Given the description of an element on the screen output the (x, y) to click on. 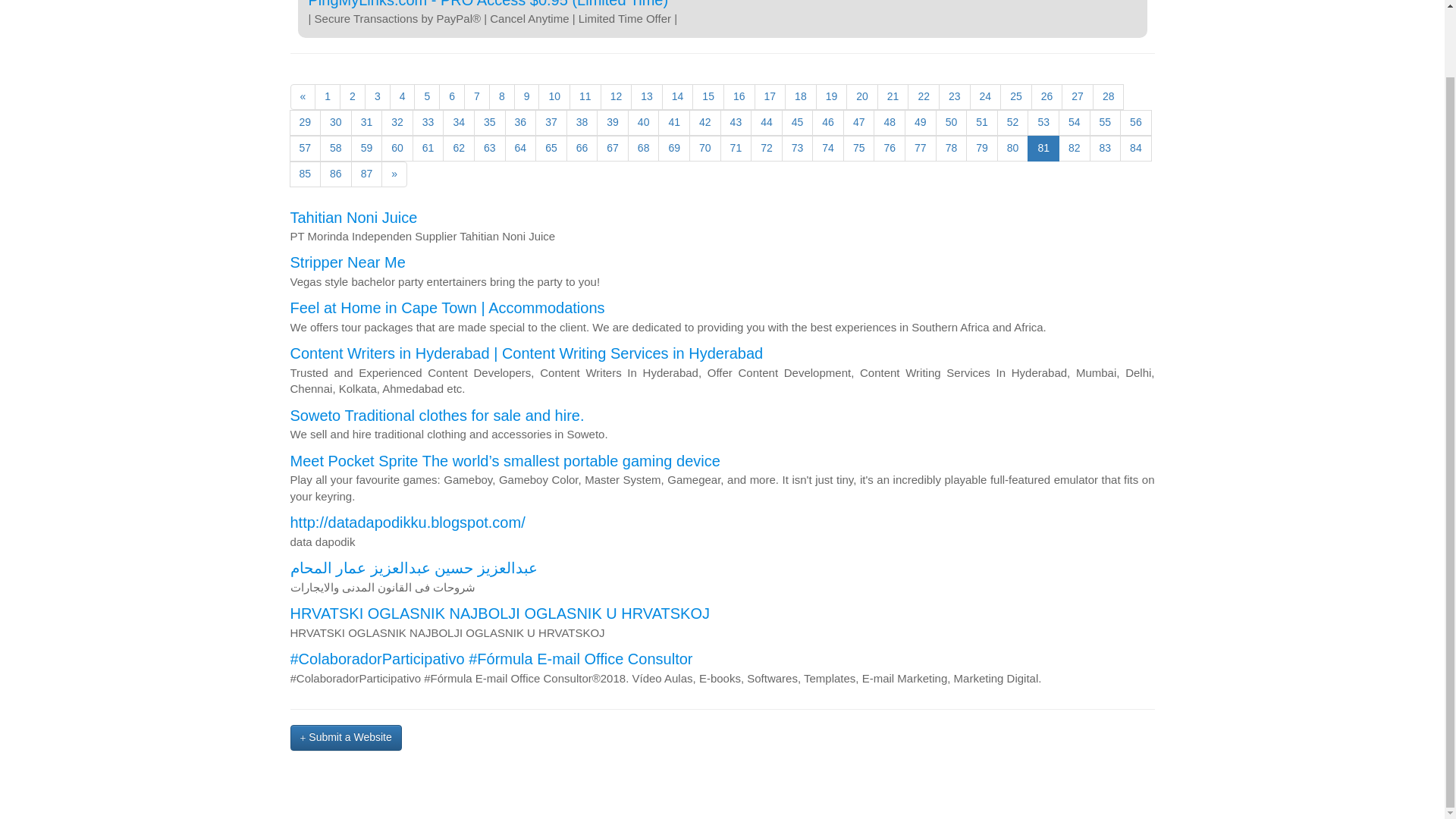
10 (554, 96)
27 (1077, 96)
35 (489, 122)
36 (521, 122)
17 (770, 96)
19 (831, 96)
4 (402, 96)
3 (377, 96)
34 (458, 122)
11 (585, 96)
